Given the description of an element on the screen output the (x, y) to click on. 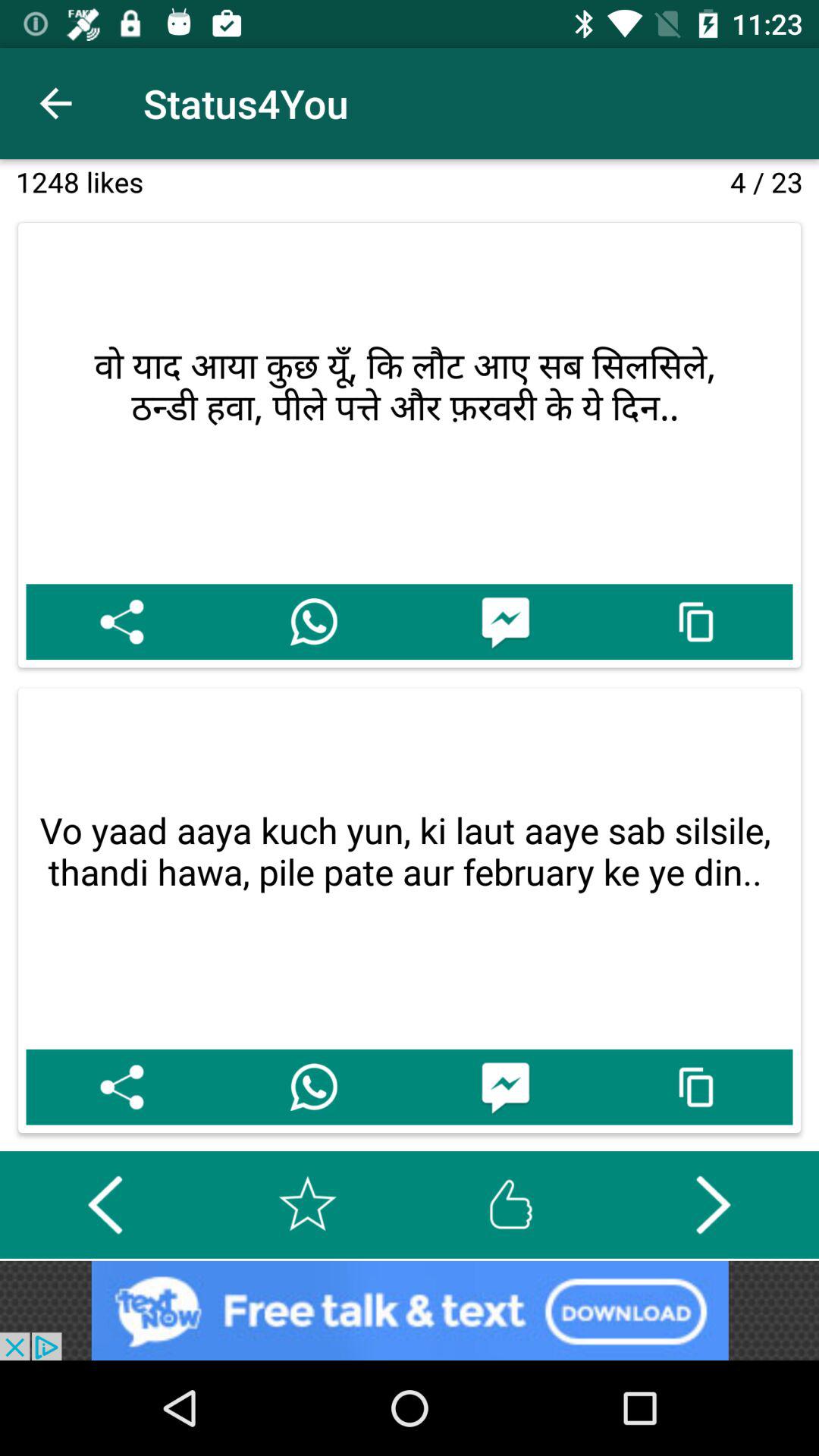
thumbs up (509, 1204)
